Given the description of an element on the screen output the (x, y) to click on. 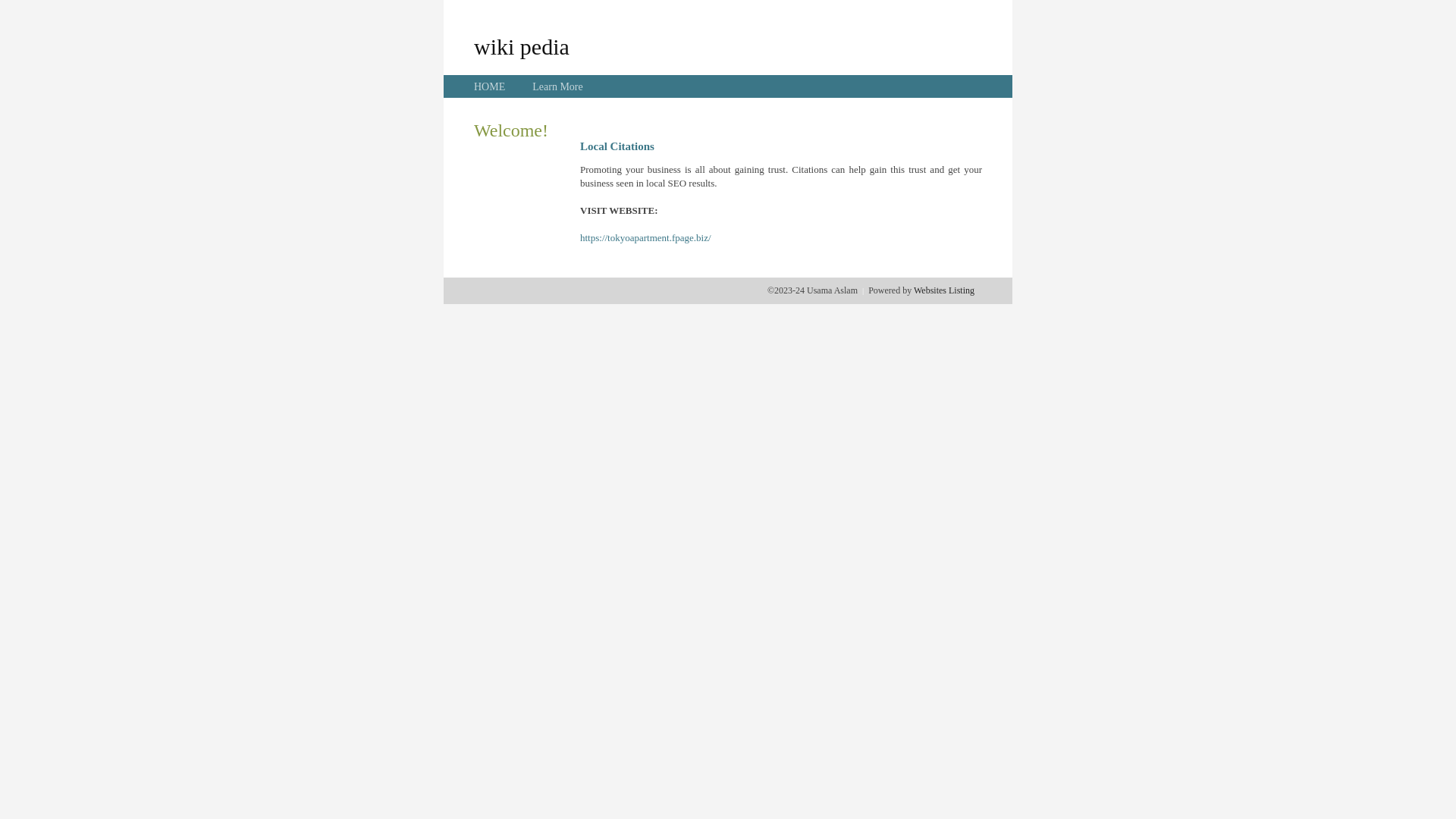
Websites Listing Element type: text (943, 290)
Learn More Element type: text (557, 86)
HOME Element type: text (489, 86)
https://tokyoapartment.fpage.biz/ Element type: text (645, 237)
wiki pedia Element type: text (521, 46)
